Given the description of an element on the screen output the (x, y) to click on. 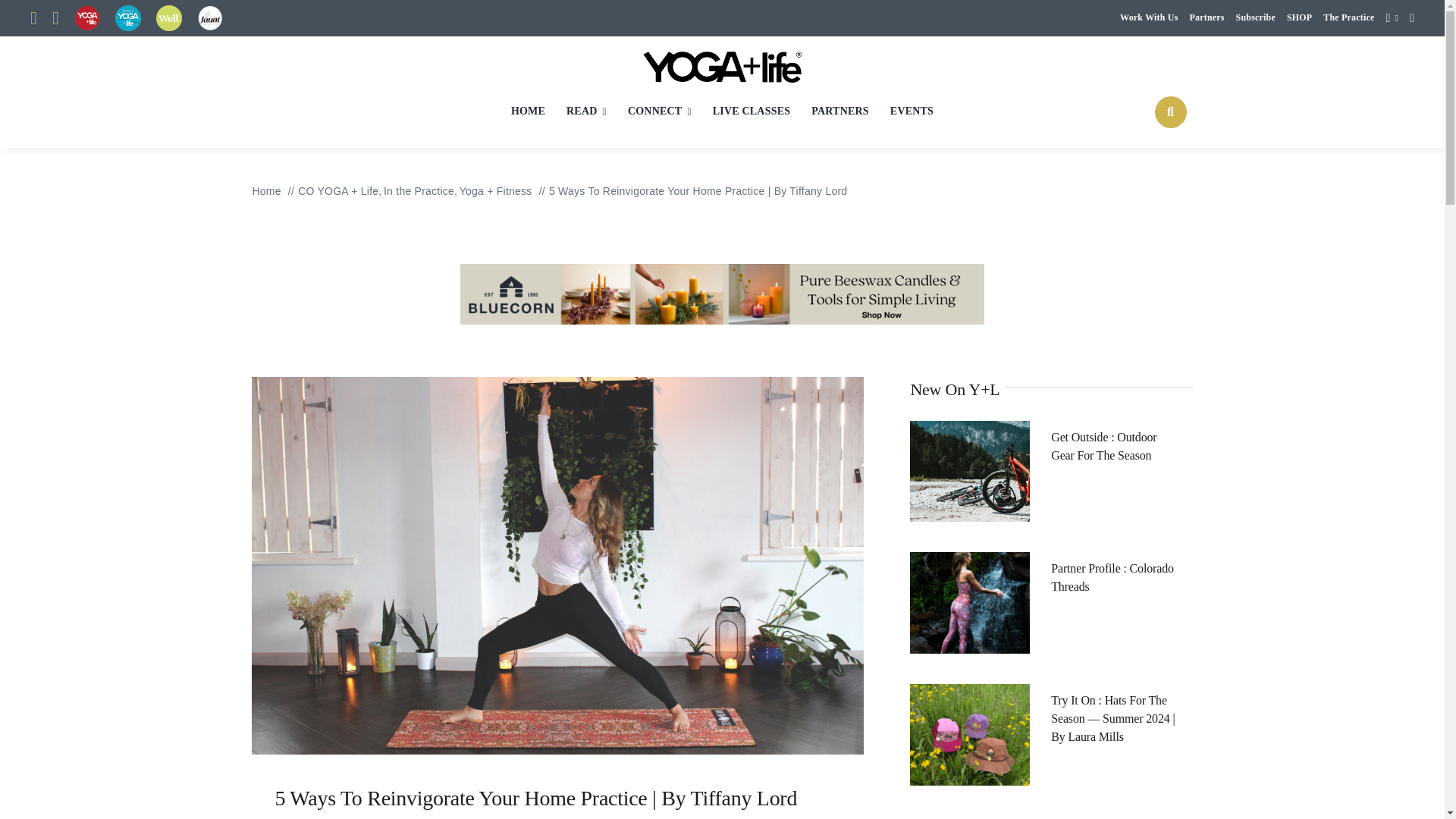
Work With Us (1148, 18)
Subscribe (1255, 18)
Partners (1206, 18)
READ (586, 111)
Log In (1366, 185)
The Practice (1348, 18)
